Given the description of an element on the screen output the (x, y) to click on. 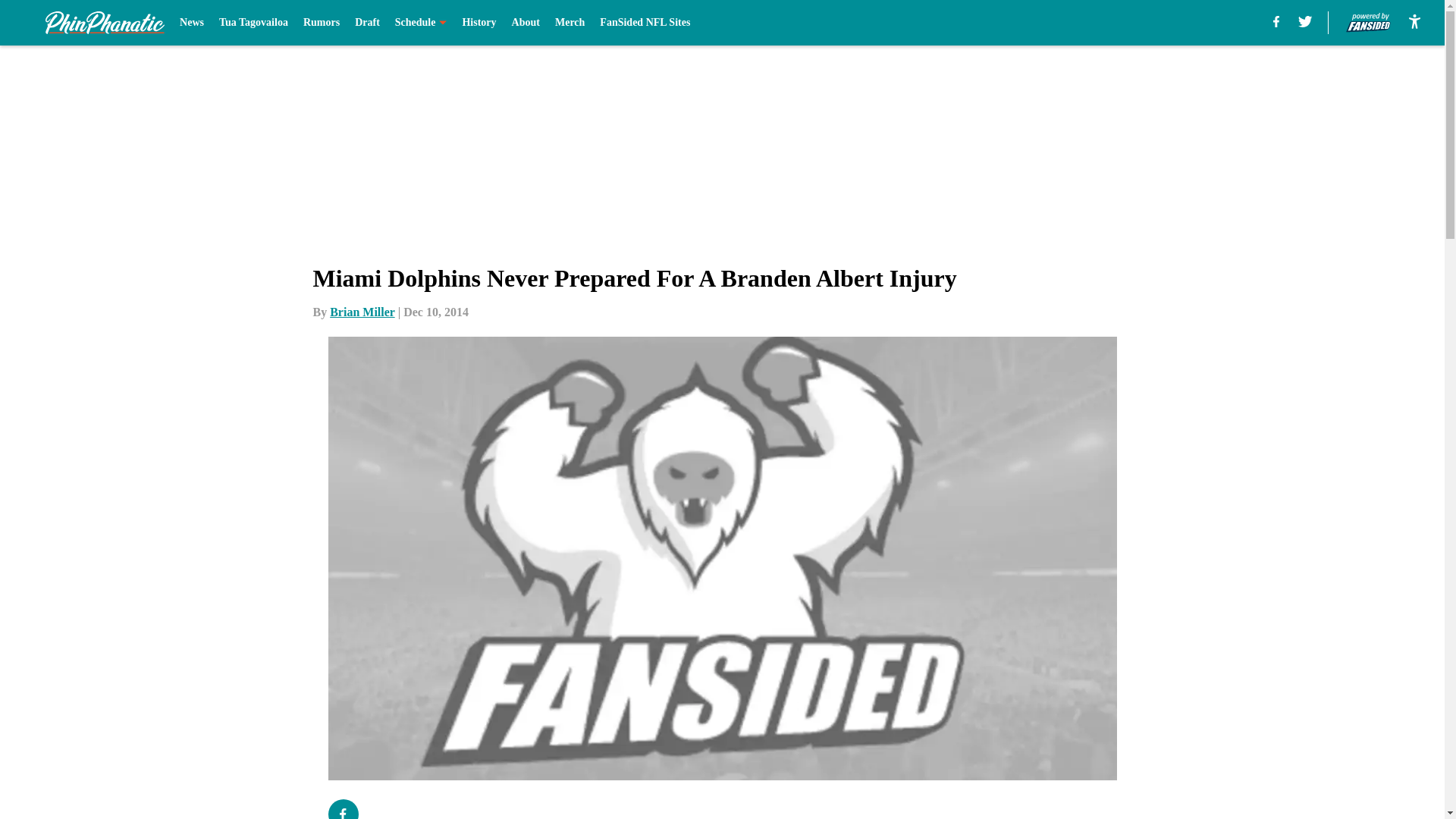
Draft (367, 22)
Rumors (320, 22)
Merch (569, 22)
Tua Tagovailoa (253, 22)
News (191, 22)
FanSided NFL Sites (644, 22)
History (478, 22)
About (526, 22)
Brian Miller (362, 311)
